Given the description of an element on the screen output the (x, y) to click on. 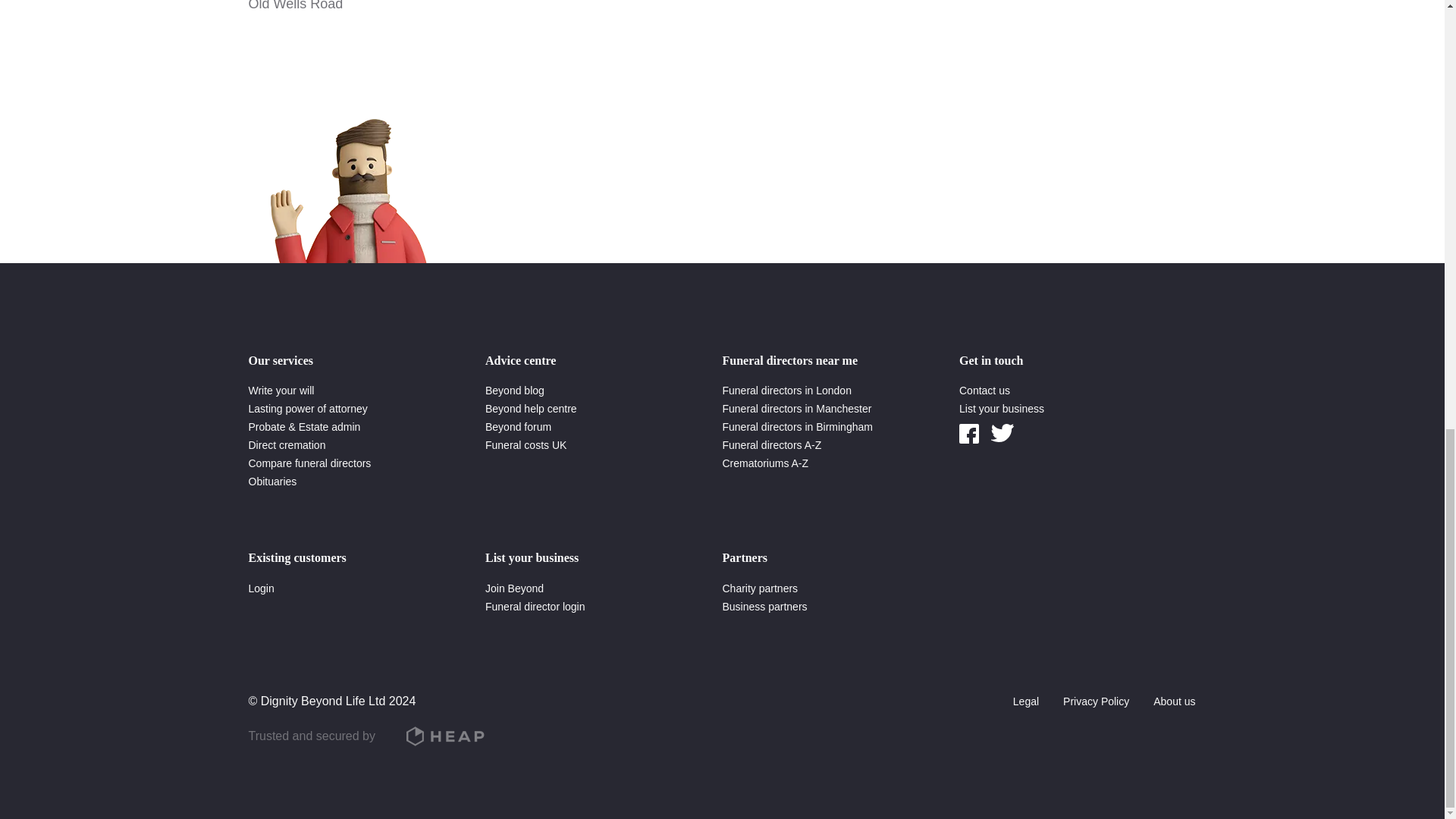
Lasting power of attorney (308, 408)
Write your will (281, 390)
